Given the description of an element on the screen output the (x, y) to click on. 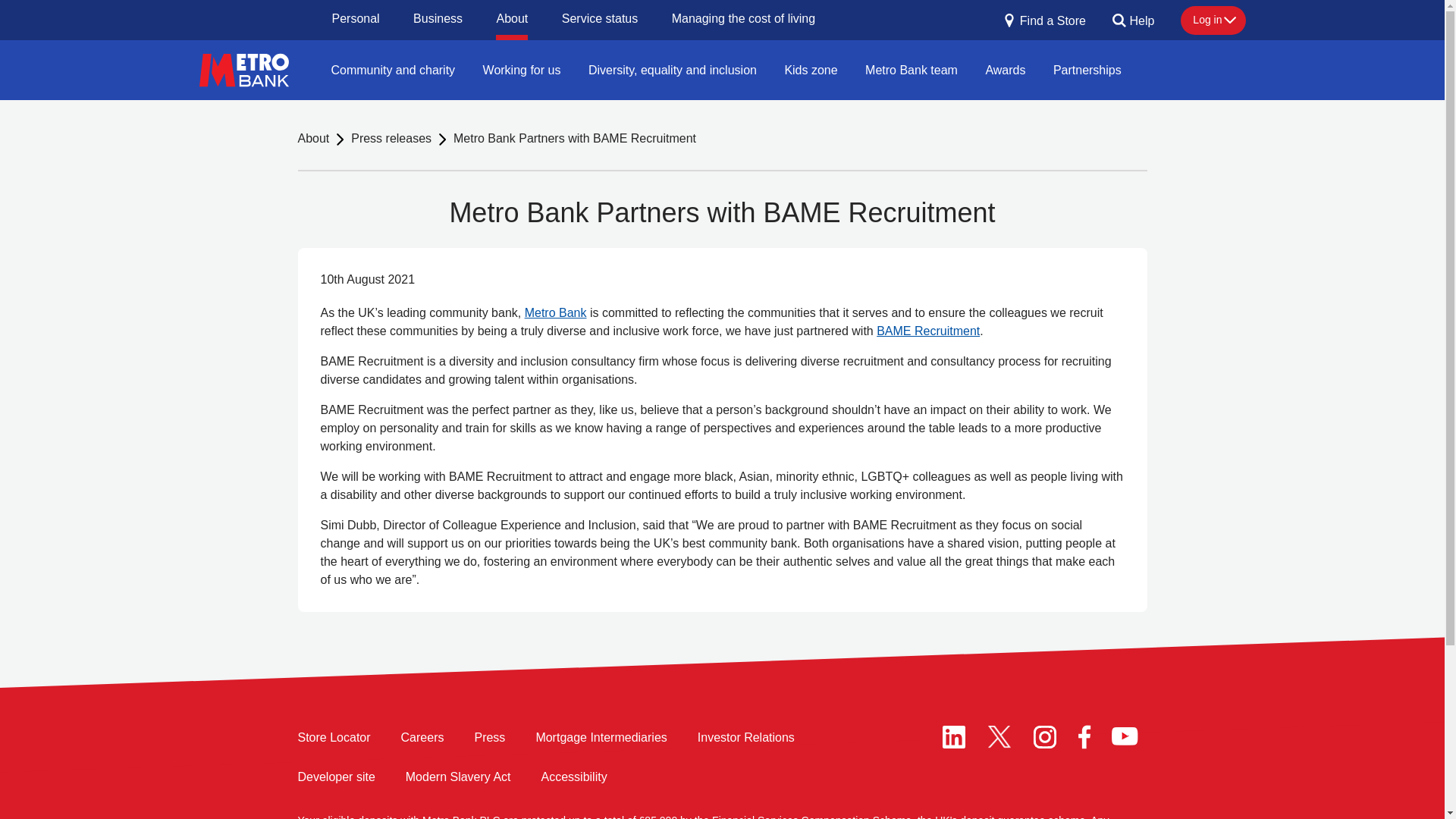
Metro Bank (555, 312)
Kids zone (809, 69)
Partnerships (1087, 69)
Service status (599, 20)
Investor Relations (745, 737)
Metro Bank team (911, 69)
Store Locator (333, 737)
Modern Slavery Act (458, 776)
Business (438, 20)
Managing the cost of living (743, 20)
